Given the description of an element on the screen output the (x, y) to click on. 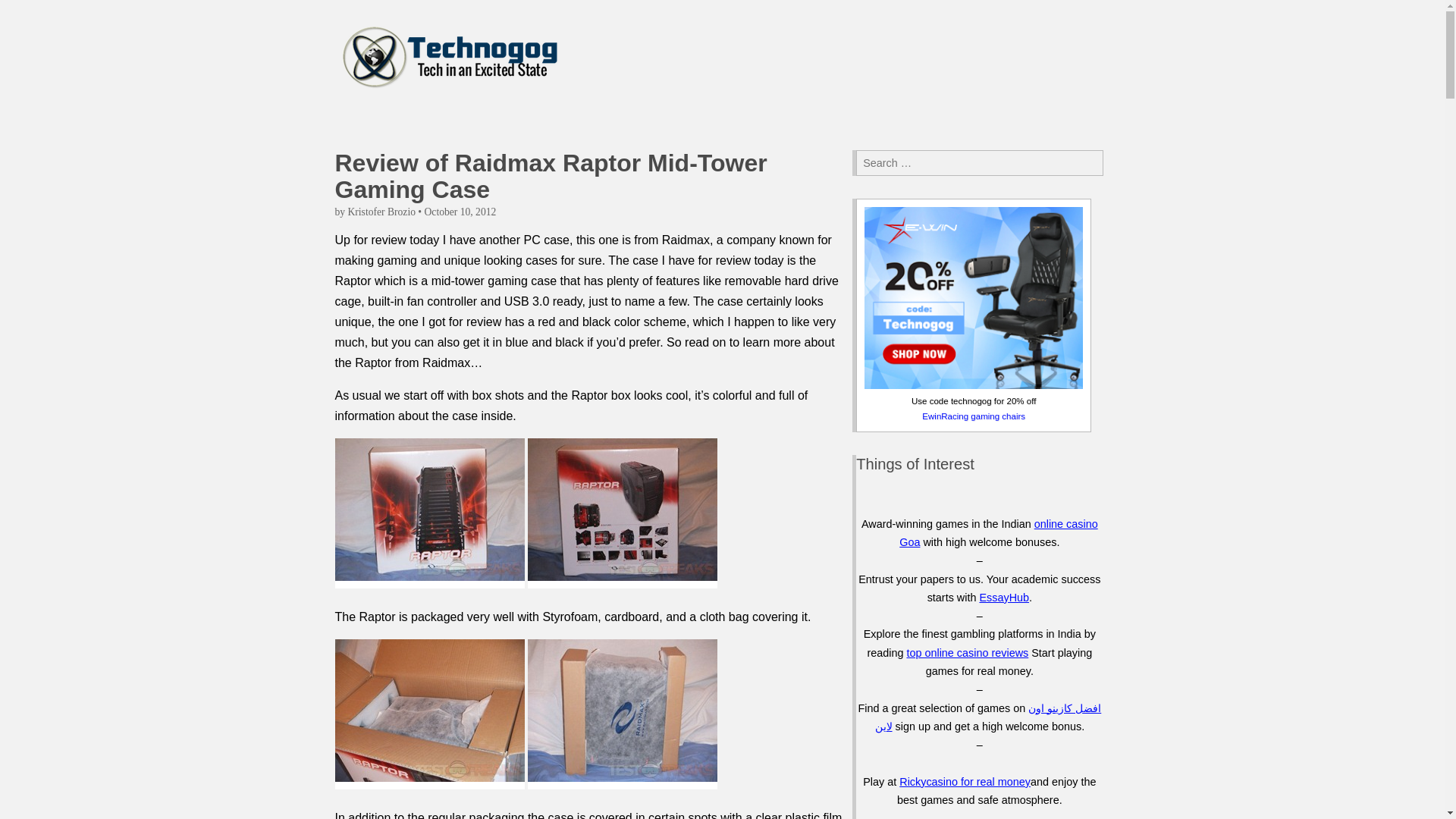
raptor2 (622, 513)
Kristofer Brozio (380, 211)
Technogog (450, 59)
Technogog (455, 142)
raptor4 (622, 714)
raptor1 (429, 513)
raptor3 (429, 714)
Posts by Kristofer Brozio (380, 211)
Technogog (455, 142)
